Given the description of an element on the screen output the (x, y) to click on. 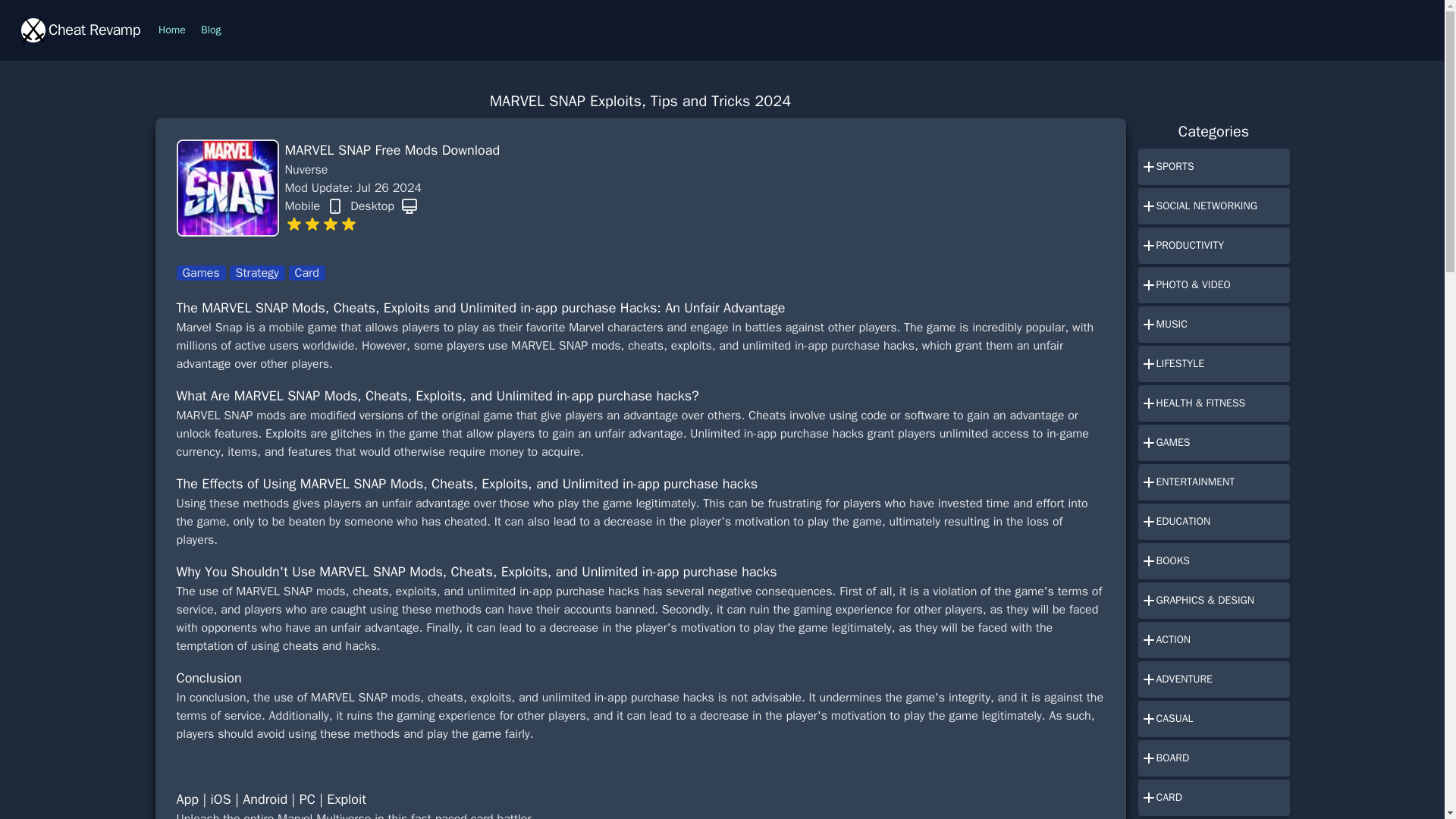
ACTION (1212, 639)
EDUCATION (1212, 521)
Games (200, 272)
Strategy (257, 272)
SPORTS (1212, 166)
Blog (210, 29)
SOCIAL NETWORKING (1212, 206)
ADVENTURE (1212, 678)
LIFESTYLE (1212, 363)
CASUAL (1212, 719)
Games (202, 272)
GAMES (1212, 443)
BOARD (1212, 758)
CARD (1212, 797)
Home (172, 29)
